Given the description of an element on the screen output the (x, y) to click on. 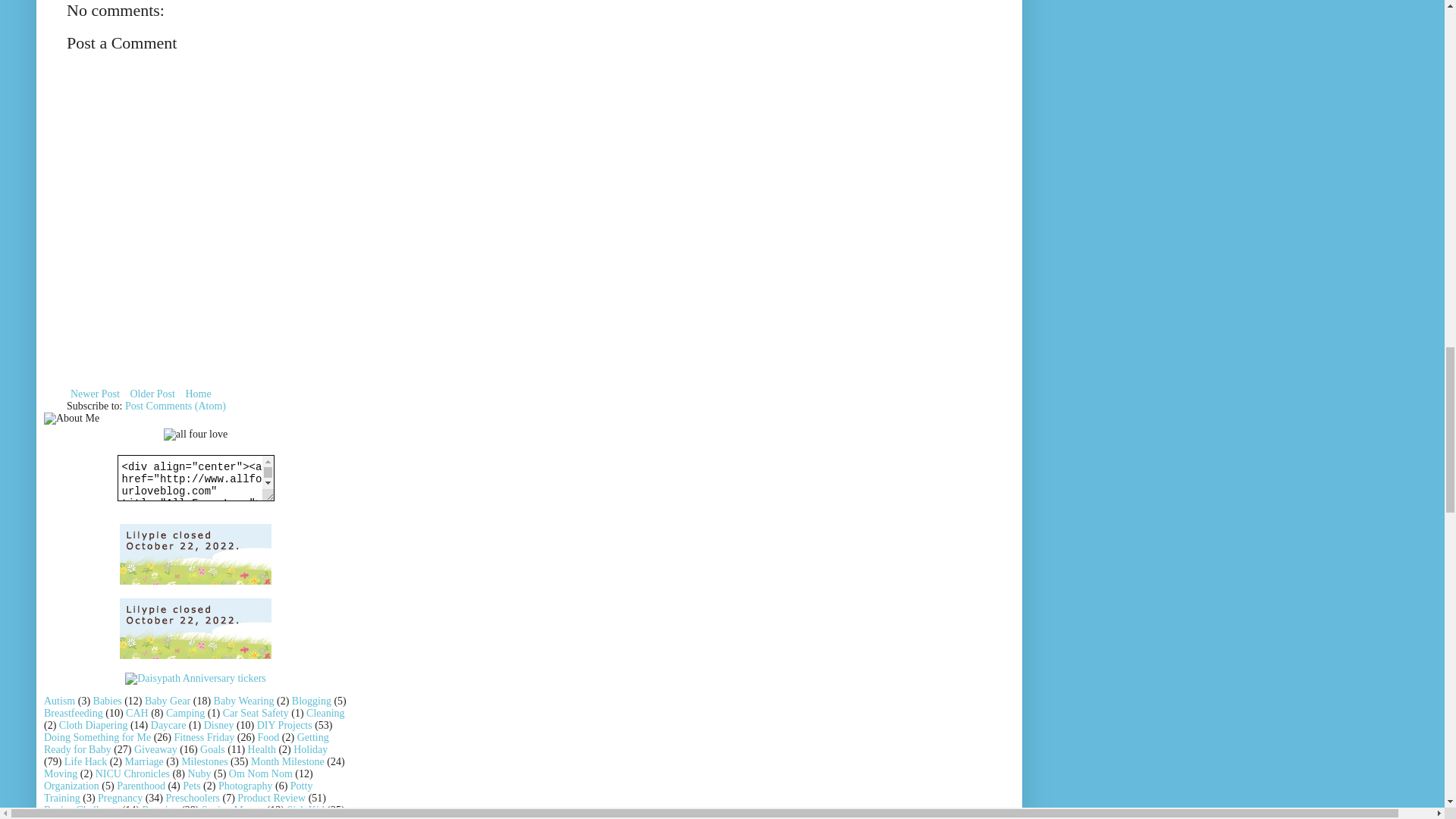
Baby Gear (167, 700)
Car Seat Safety (255, 713)
Newer Post (94, 393)
Disney (218, 725)
CAH (136, 713)
Camping (185, 713)
Home (197, 393)
Breastfeeding (73, 713)
Babies (107, 700)
Daycare (168, 725)
Older Post (152, 393)
Autism (59, 700)
Blogging (311, 700)
Baby Wearing (244, 700)
Cloth Diapering (93, 725)
